Given the description of an element on the screen output the (x, y) to click on. 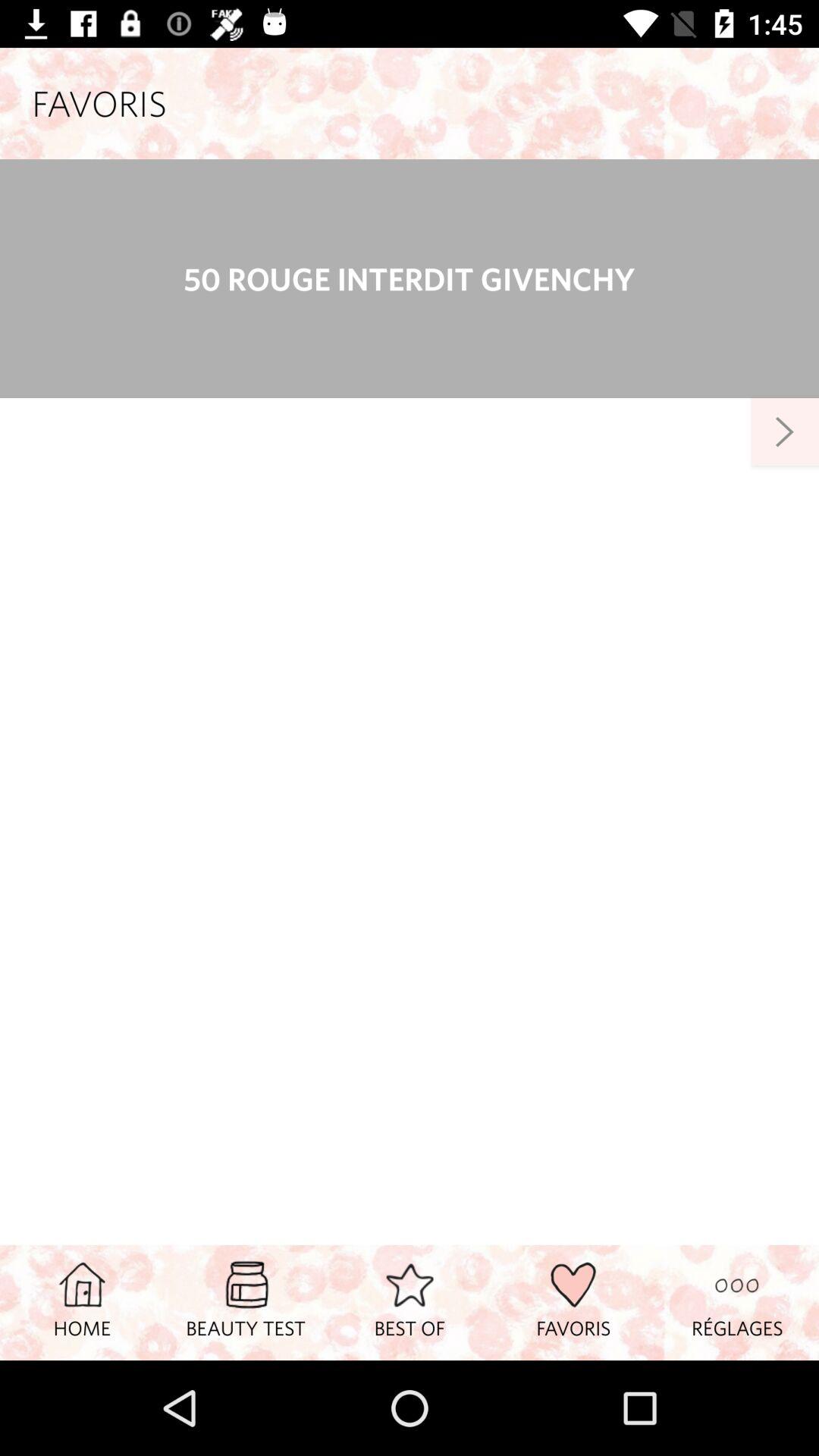
tap beauty test (245, 1302)
